Given the description of an element on the screen output the (x, y) to click on. 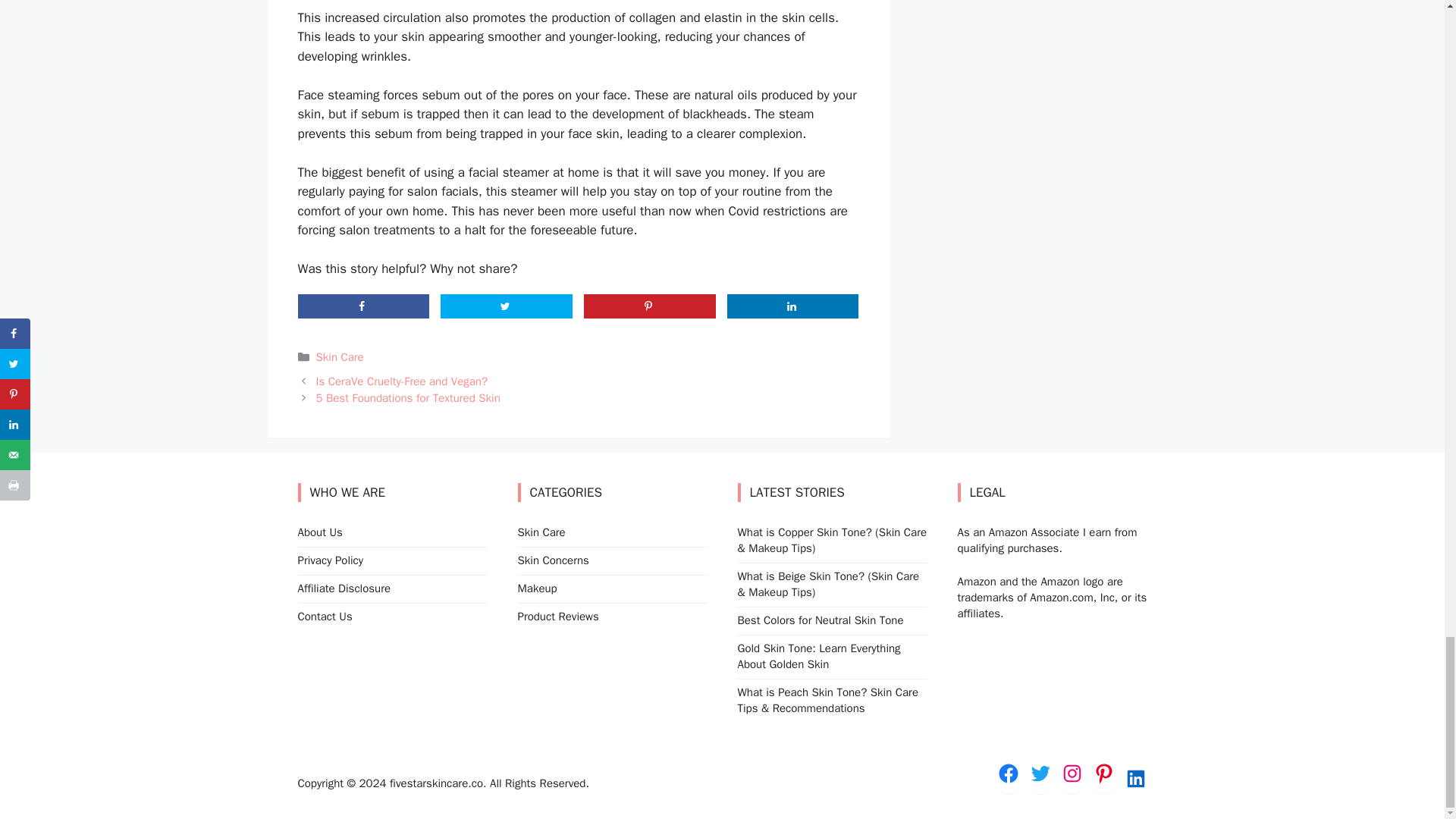
Share on Twitter (506, 306)
Is CeraVe Cruelty-Free and Vegan? (400, 381)
Save to Pinterest (649, 306)
5 Best Foundations for Textured Skin (407, 397)
Share on LinkedIn (792, 306)
Skin Care (338, 356)
Share on Facebook (363, 306)
